Given the description of an element on the screen output the (x, y) to click on. 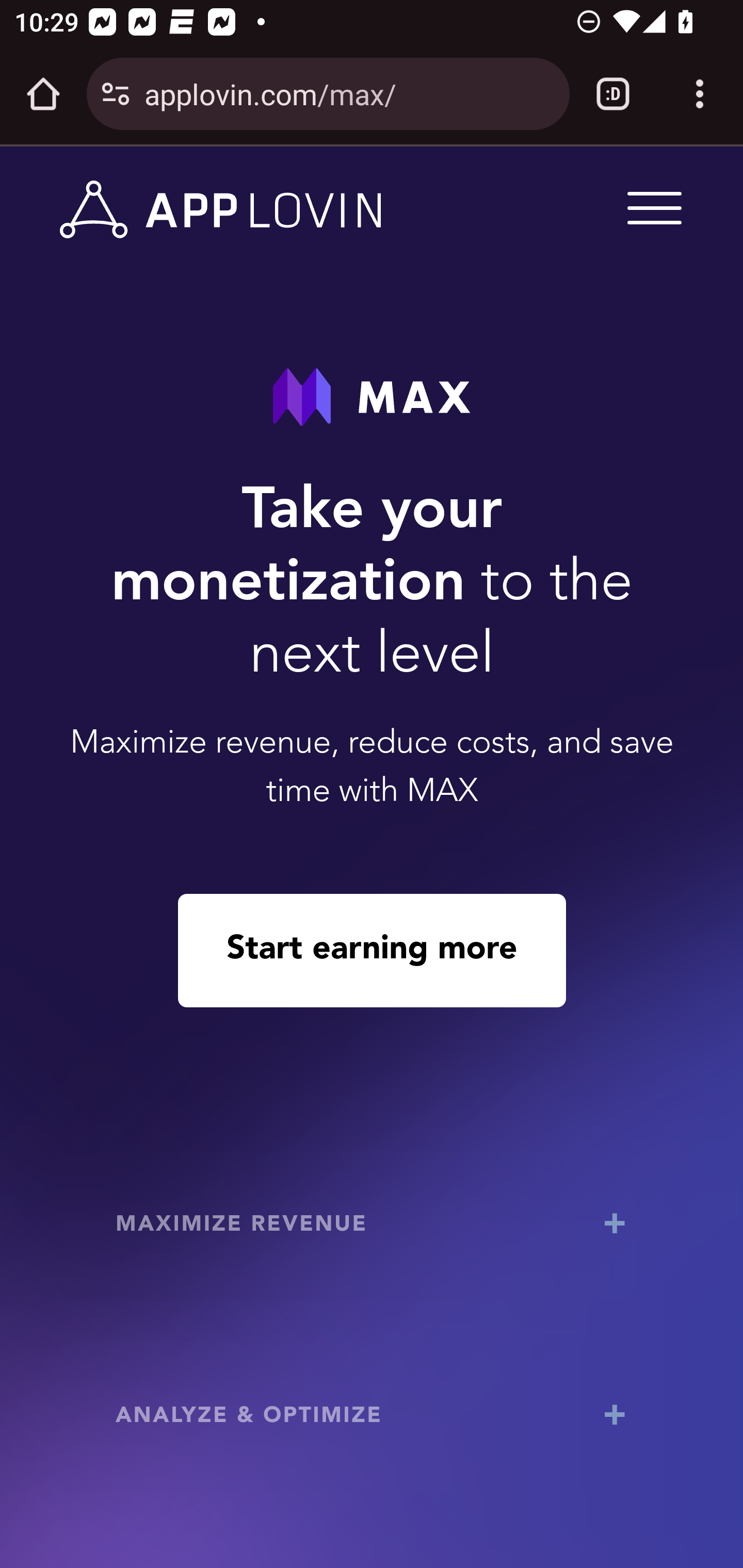
Open the home page (43, 93)
Connection is secure (115, 93)
Switch or close tabs (612, 93)
Customize and control Google Chrome (699, 93)
applovin.com/max/ (349, 92)
Menu Trigger (650, 207)
www.applovin (220, 209)
Start earning more (371, 950)
